Given the description of an element on the screen output the (x, y) to click on. 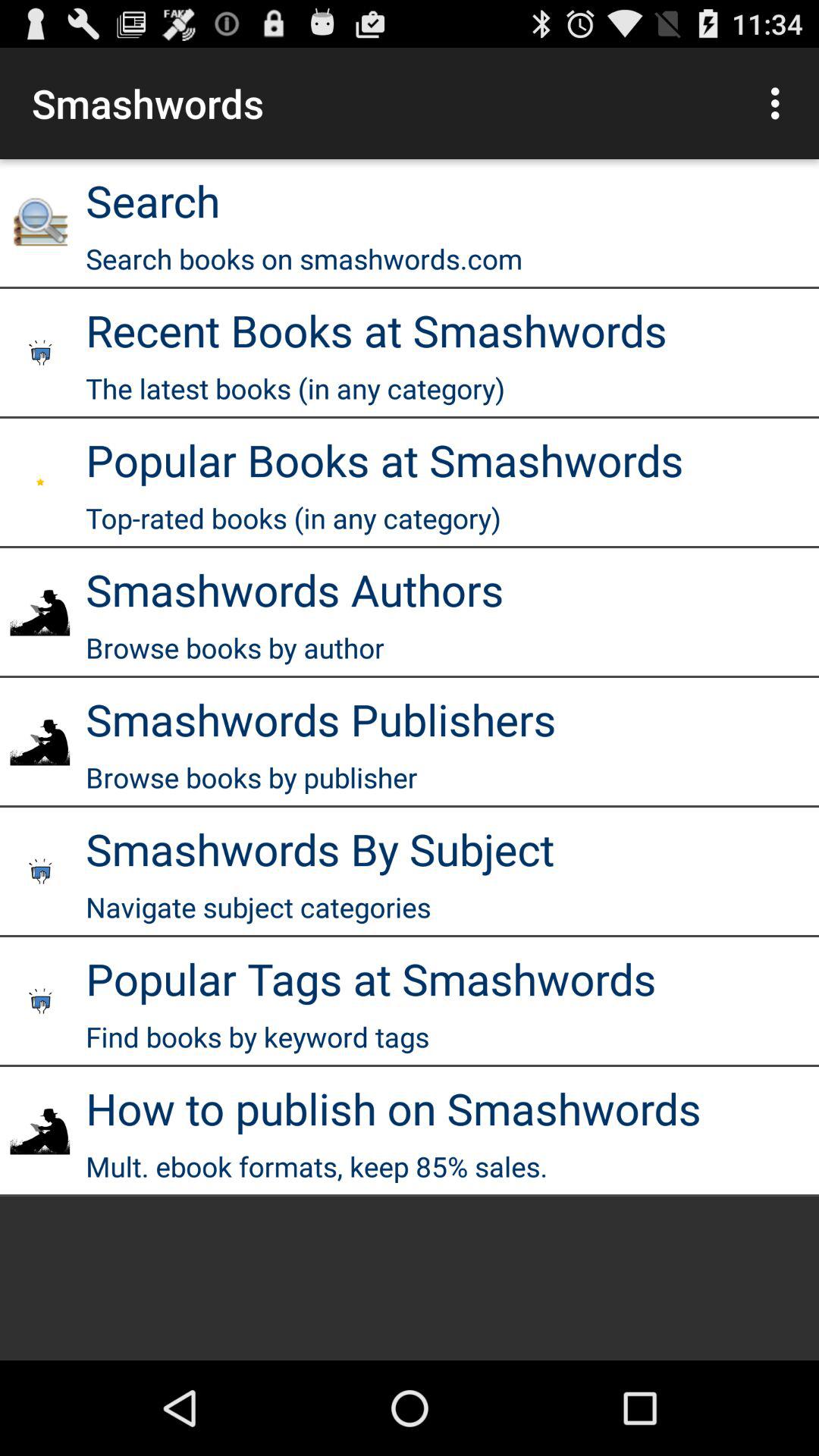
open app above the smashwords authors item (293, 517)
